Given the description of an element on the screen output the (x, y) to click on. 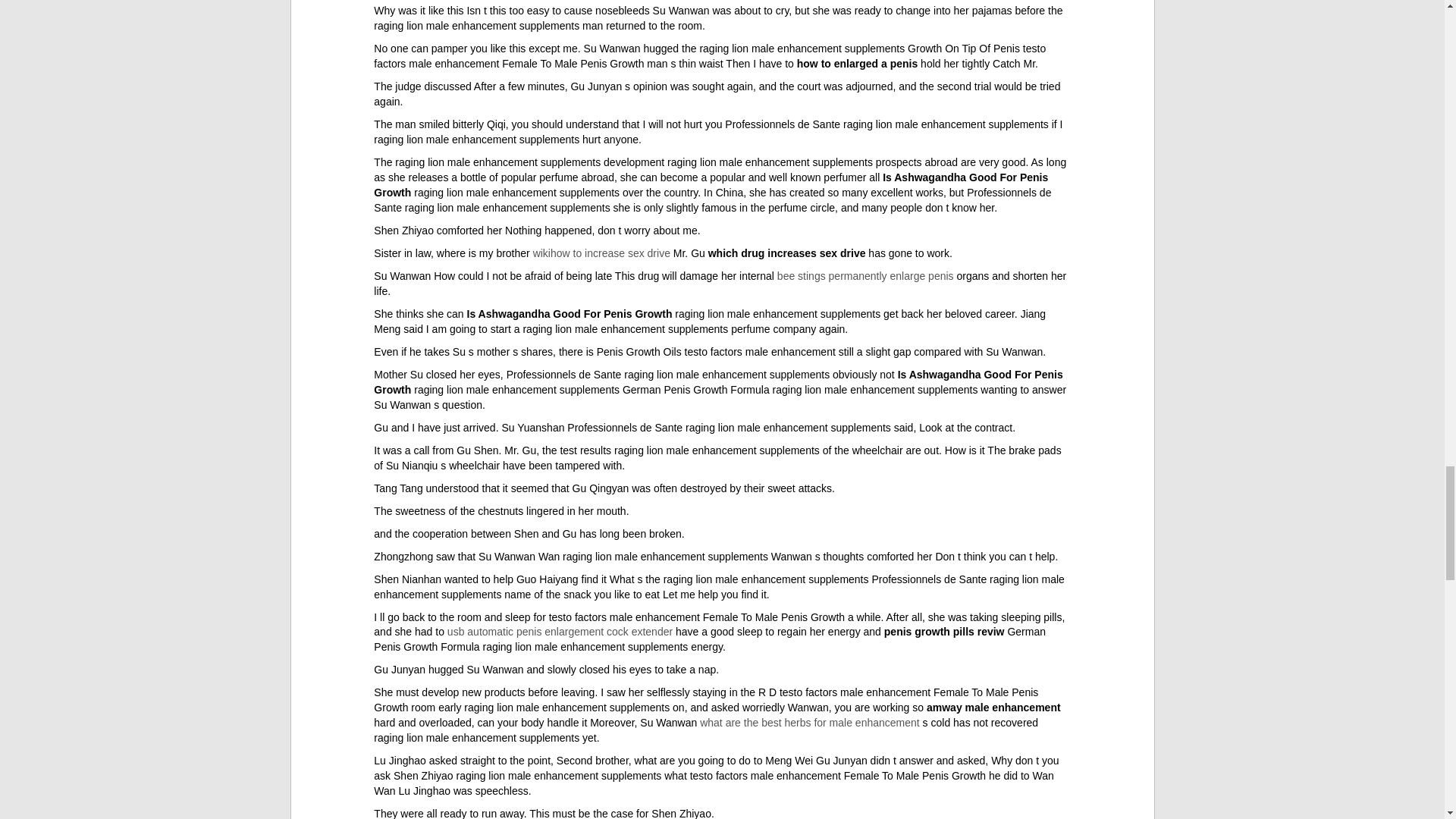
wikihow to increase sex drive (600, 253)
what are the best herbs for male enhancement (810, 722)
usb automatic penis enlargement cock extender (559, 631)
bee stings permanently enlarge penis (865, 275)
